Given the description of an element on the screen output the (x, y) to click on. 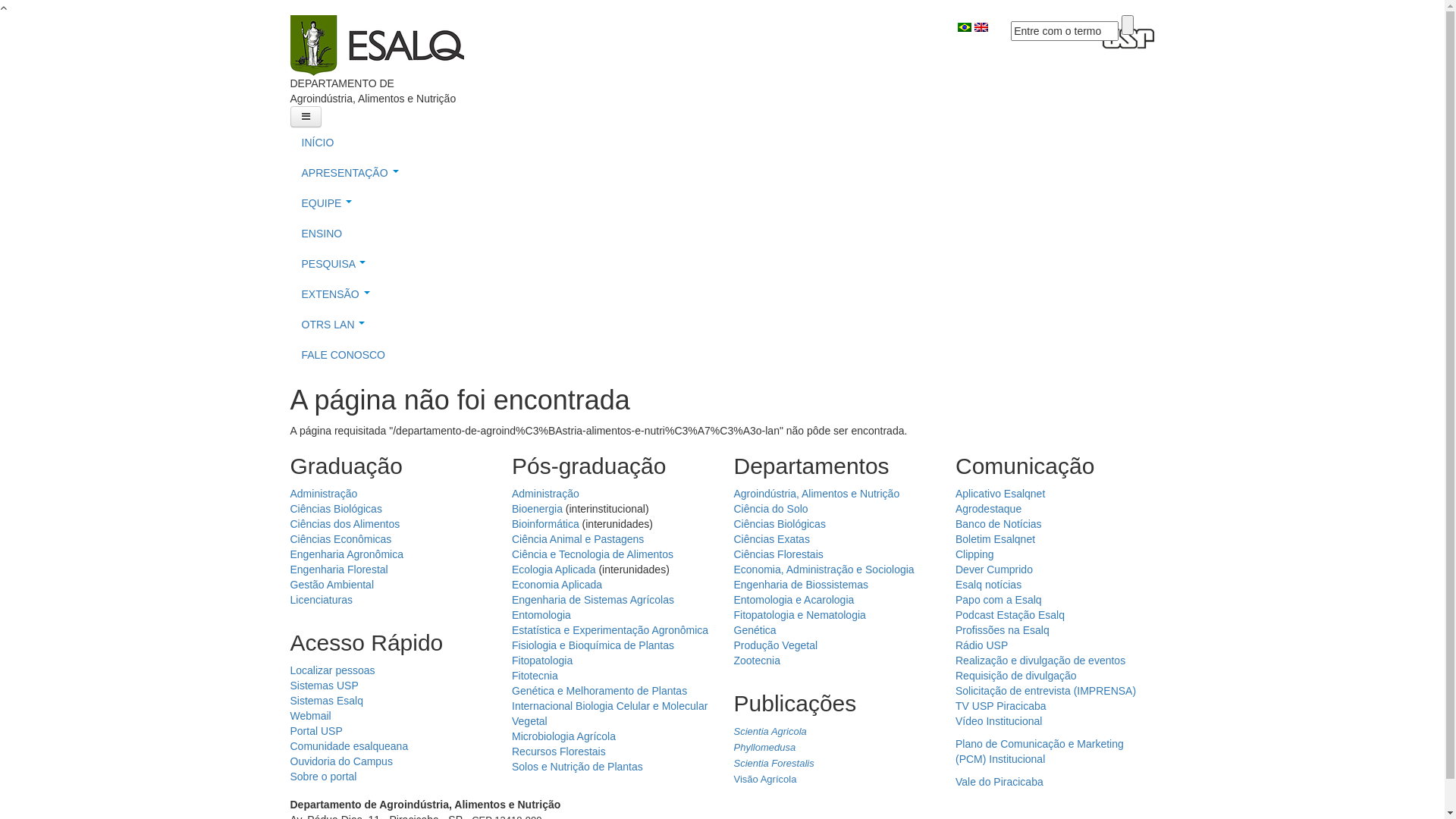
Ouvidoria do Campus Element type: text (340, 761)
EQUIPE Element type: text (721, 203)
Economia Aplicada Element type: text (556, 584)
Scientia Agricola Element type: text (770, 731)
Sobre o portal Element type: text (322, 776)
Agrodestaque Element type: text (988, 508)
Clipping Element type: text (974, 554)
Dever Cumprido Element type: text (993, 569)
Papo com a Esalq Element type: text (998, 599)
Engenharia Florestal Element type: text (338, 569)
Recursos Florestais Element type: text (558, 751)
Sistemas USP Element type: text (323, 685)
Internacional Biologia Celular e Molecular Vegetal Element type: text (609, 713)
FALE CONOSCO Element type: text (721, 354)
Entomologia e Acarologia Element type: text (794, 599)
Phyllomedusa Element type: text (765, 747)
Zootecnia Element type: text (757, 660)
Bioenergia Element type: text (536, 508)
Comunidade esalqueana Element type: text (348, 746)
OTRS LAN Element type: text (721, 324)
Ecologia Aplicada Element type: text (553, 569)
Entomologia Element type: text (541, 614)
Scientia Forestalis Element type: text (774, 762)
Vale do Piracicaba Element type: text (999, 781)
Licenciaturas Element type: text (320, 599)
Webmail Element type: text (309, 715)
PESQUISA Element type: text (721, 263)
ENSINO Element type: text (721, 233)
Engenharia de Biossistemas Element type: text (801, 584)
Aplicativo Esalqnet Element type: text (999, 493)
Boletim Esalqnet Element type: text (995, 539)
Fitopatologia e Nematologia Element type: text (800, 614)
Fitopatologia Element type: text (541, 660)
Localizar pessoas Element type: text (331, 670)
Sistemas Esalq Element type: text (325, 700)
TV USP Piracicaba Element type: text (1000, 705)
Portal USP Element type: text (315, 730)
Fitotecnia Element type: text (534, 675)
